Given the description of an element on the screen output the (x, y) to click on. 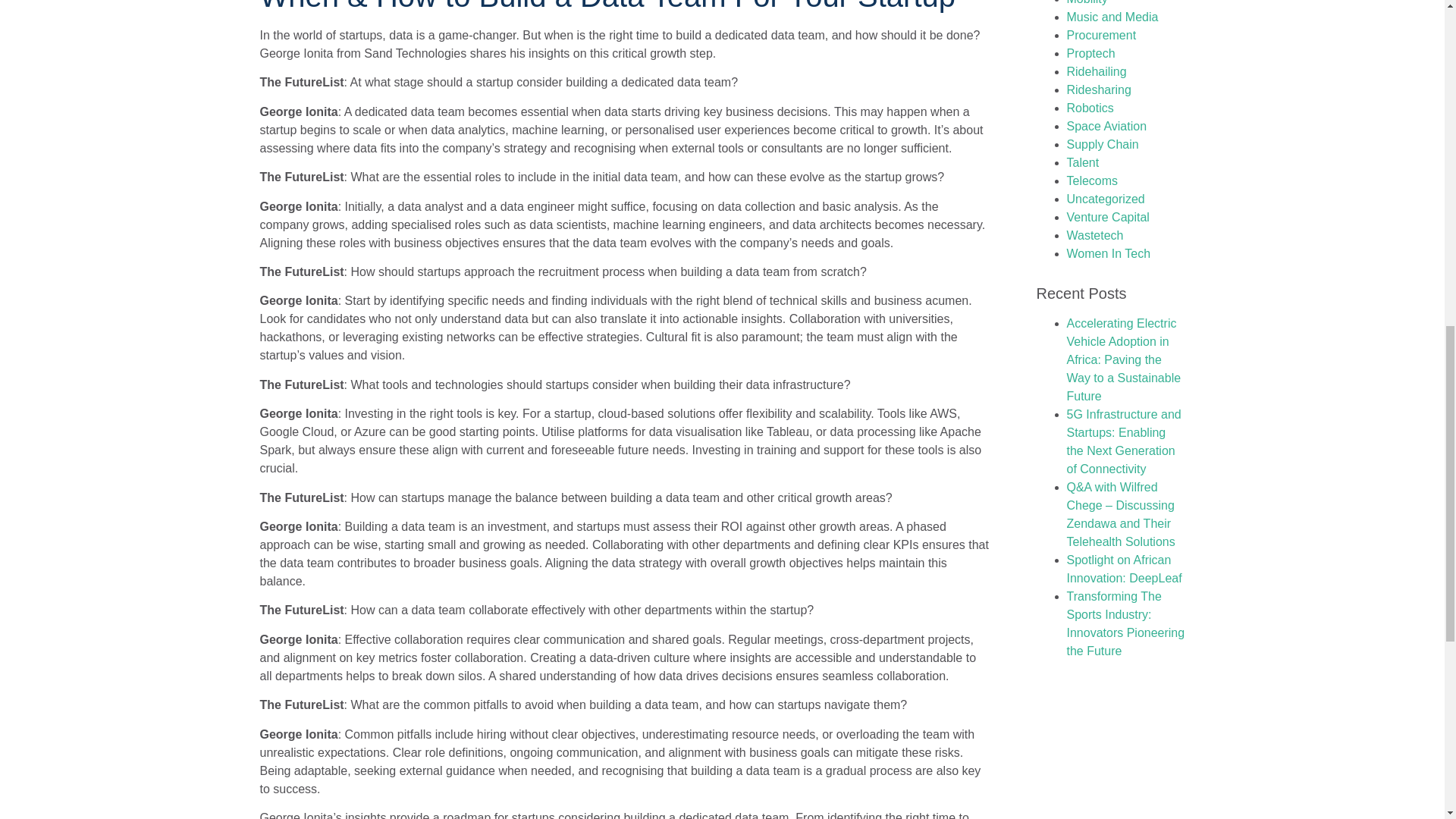
Ridehailing (1095, 71)
Mobility (1085, 2)
Proptech (1090, 52)
Robotics (1089, 107)
Supply Chain (1101, 144)
Ridesharing (1098, 89)
Music and Media (1111, 16)
Space Aviation (1106, 125)
Talent (1082, 162)
Procurement (1100, 34)
